Given the description of an element on the screen output the (x, y) to click on. 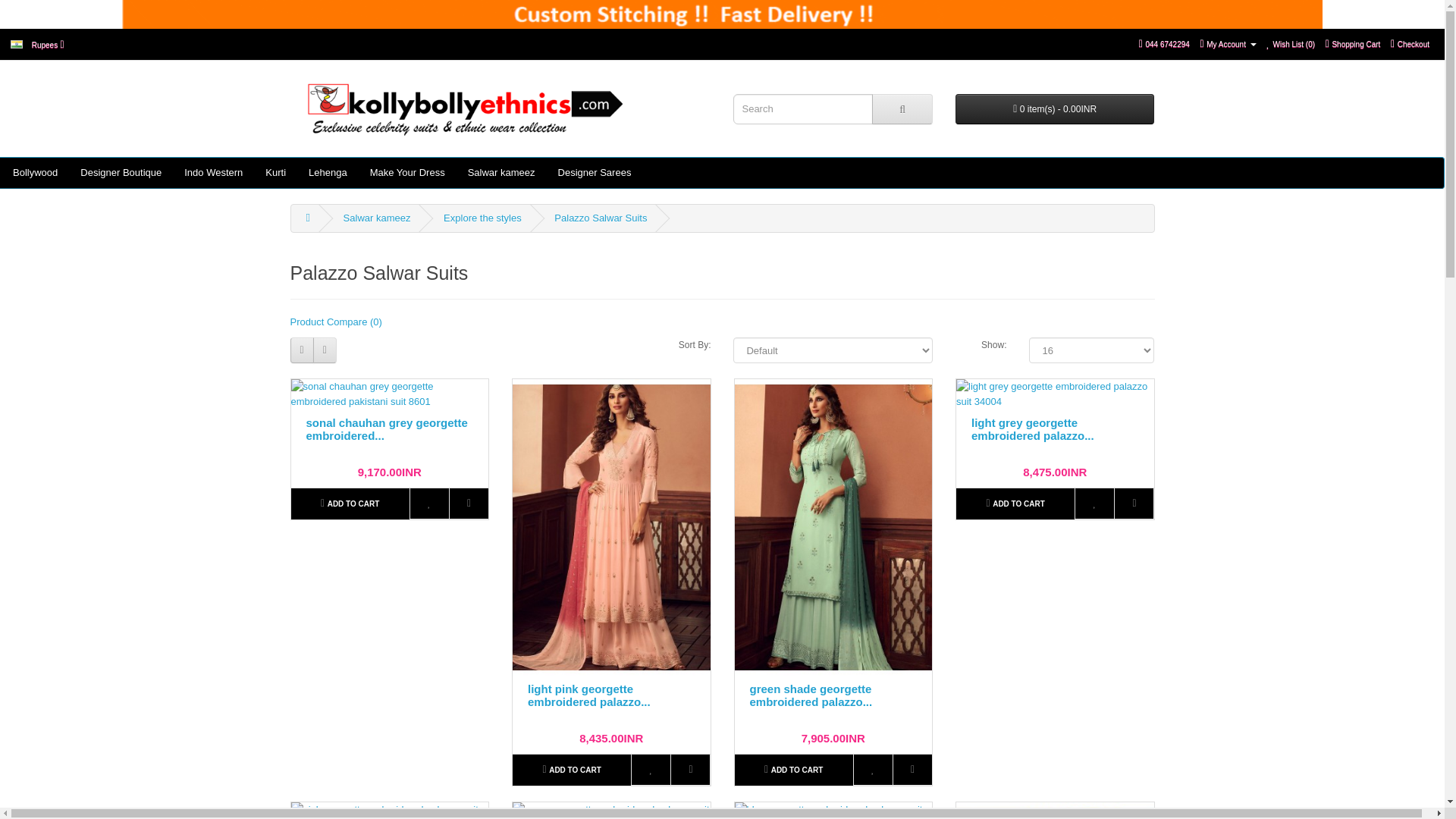
Kollybollyethnics (463, 108)
light grey georgette embroidered palazzo suit 34004 (1055, 394)
light pink georgette embroidered palazzo suit 34006 (611, 527)
Checkout (1409, 43)
Kollybollyethnics (722, 14)
Bollywood (34, 173)
green shade georgette embroidered palazzo suit 34005 (832, 527)
Checkout (1409, 43)
My Account (1227, 43)
Shopping Cart (1352, 43)
Shopping Cart (1352, 43)
  Rupees (37, 44)
sonal chauhan grey georgette embroidered pakistani suit 8601 (390, 394)
My Account (1227, 43)
